Given the description of an element on the screen output the (x, y) to click on. 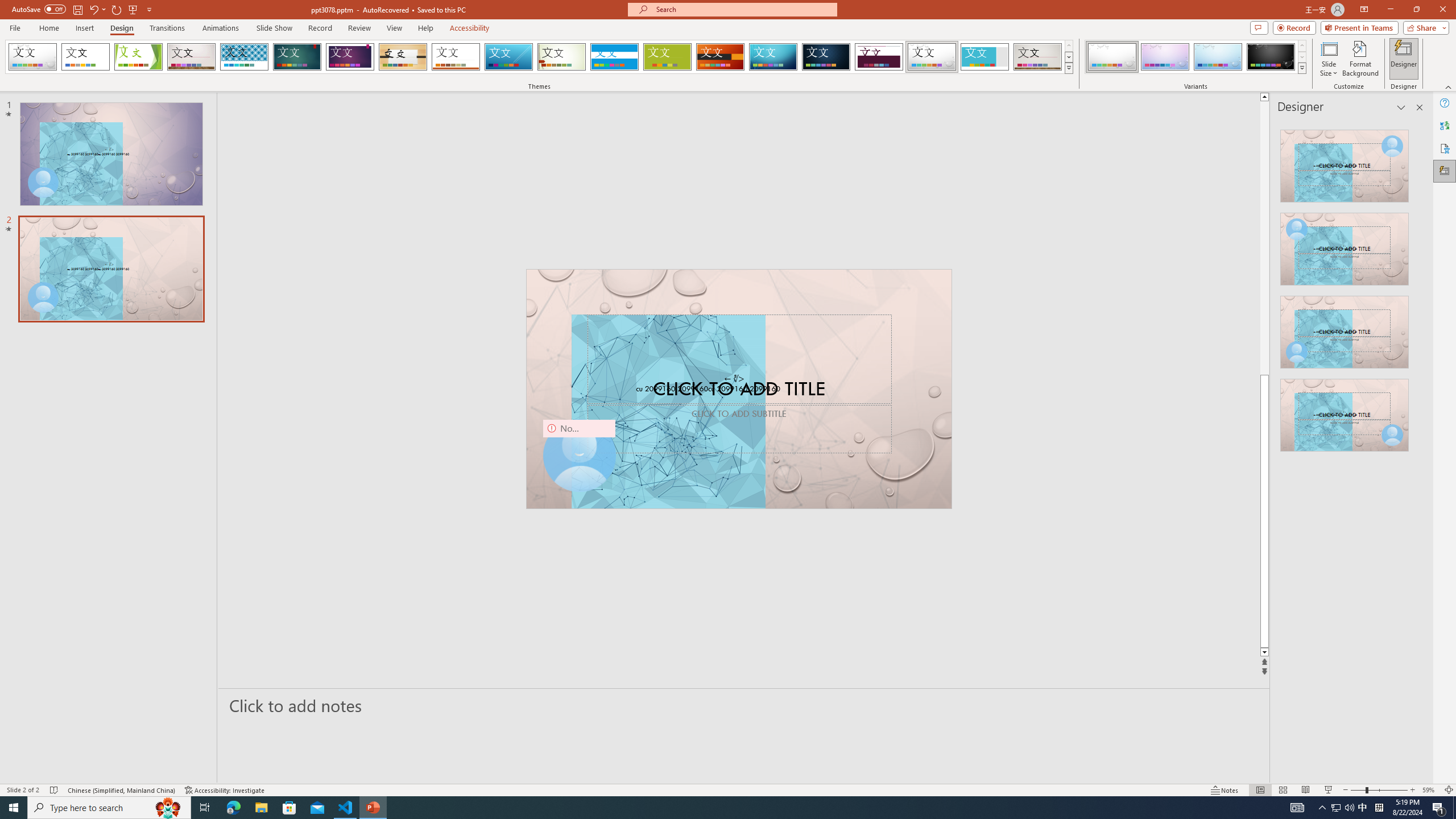
AutomationID: ThemeVariantsGallery (1195, 56)
Camera 9, No camera detected. (578, 455)
Droplet Variant 3 (1217, 56)
Variants (1301, 67)
Subtitle TextBox (739, 428)
TextBox 7 (734, 378)
Circuit (772, 56)
